Given the description of an element on the screen output the (x, y) to click on. 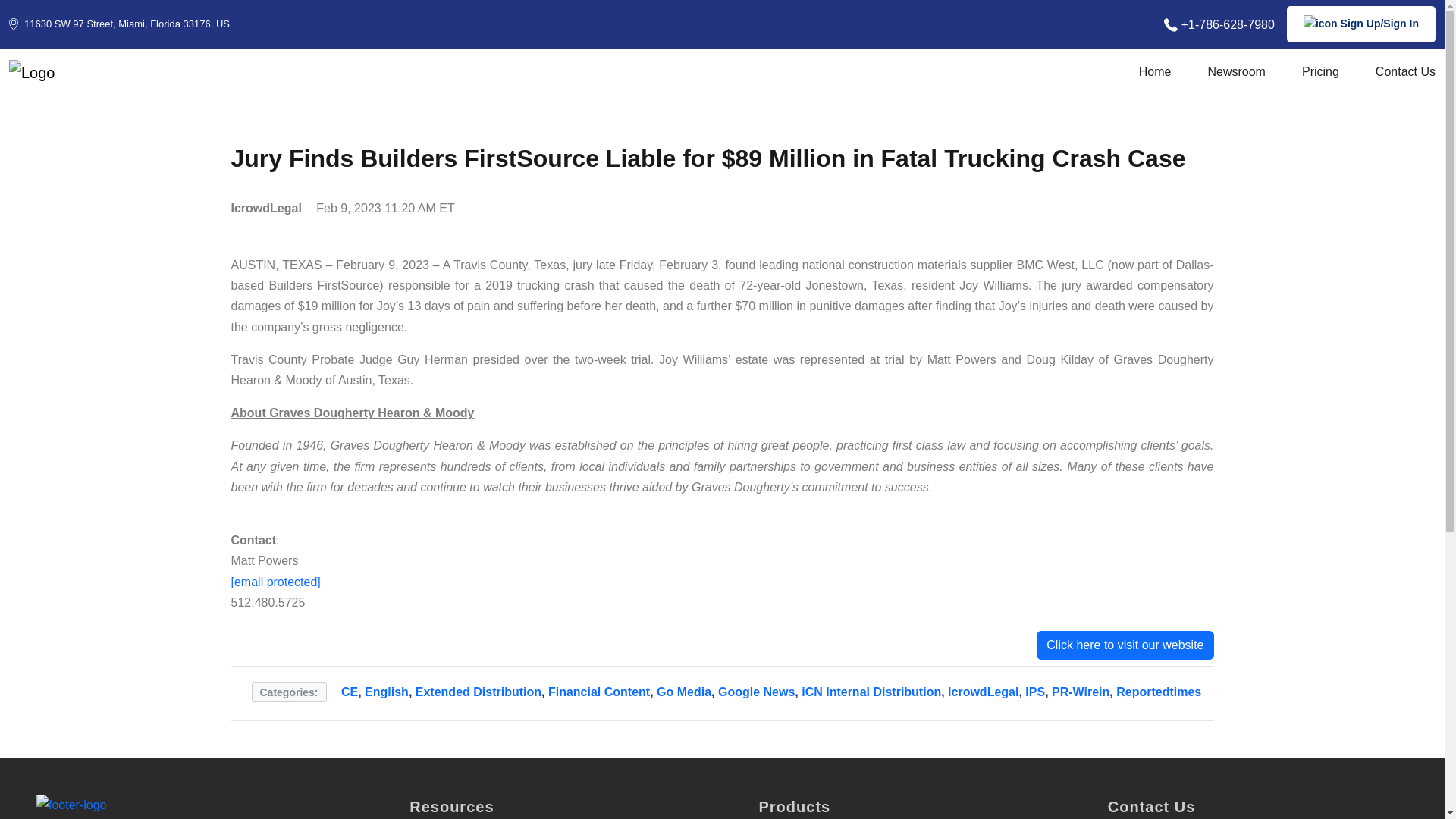
IPS (1035, 700)
Go Media (683, 700)
Newsroom (1236, 75)
Reportedtimes (1158, 700)
IcrowdLegal (982, 700)
Pricing (1320, 75)
iCN Internal Distribution (871, 700)
CE (349, 700)
Extended Distribution (477, 700)
Financial Content (598, 700)
English (387, 700)
Contact Us (1405, 75)
Home (1155, 75)
PR-Wirein (1080, 700)
Google News (755, 700)
